Given the description of an element on the screen output the (x, y) to click on. 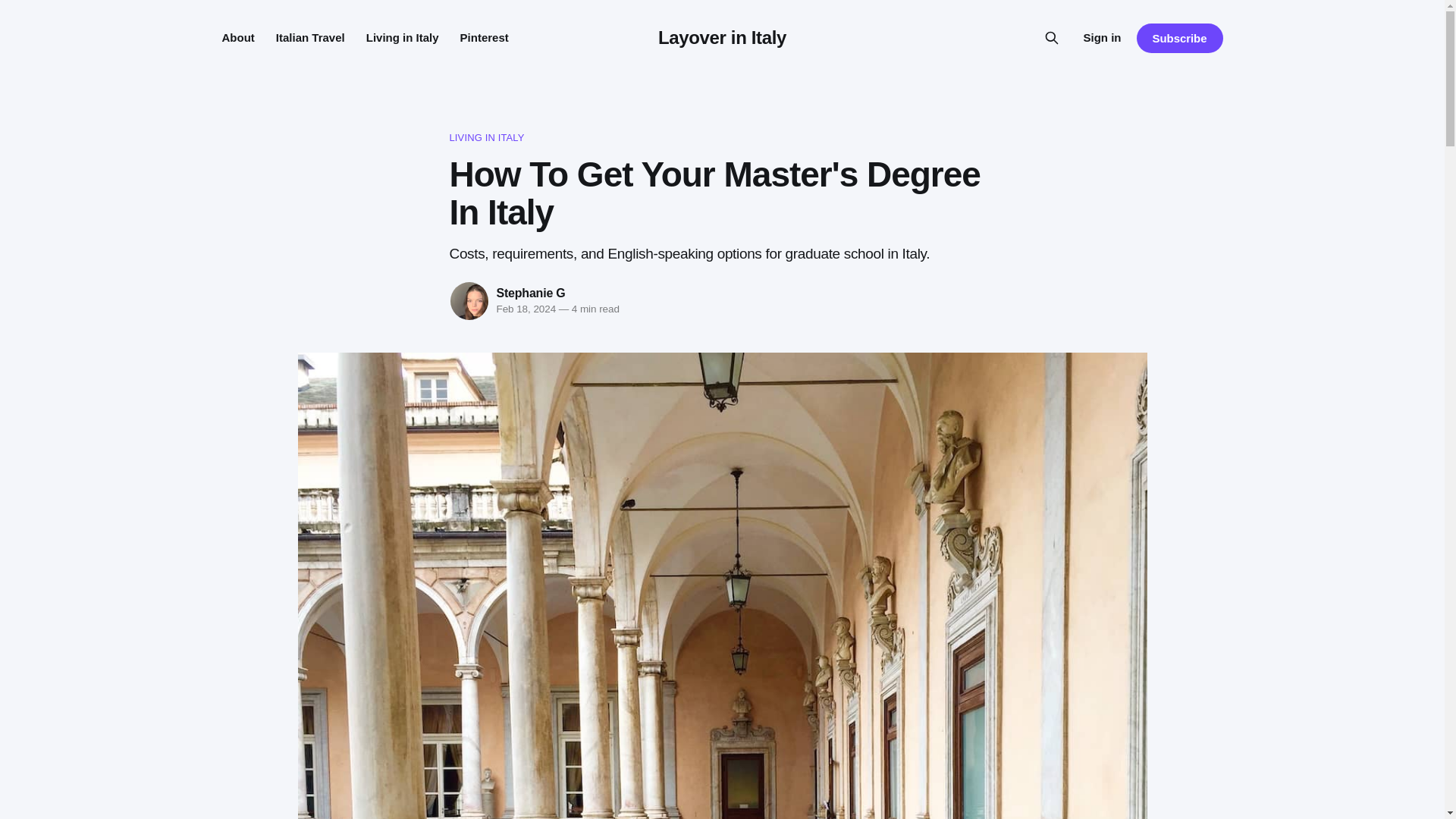
LIVING IN ITALY (721, 138)
Pinterest (484, 37)
Subscribe (1179, 37)
Stephanie G (530, 292)
Living in Italy (402, 37)
Layover in Italy (722, 37)
Italian Travel (310, 37)
Sign in (1102, 37)
About (237, 37)
